Given the description of an element on the screen output the (x, y) to click on. 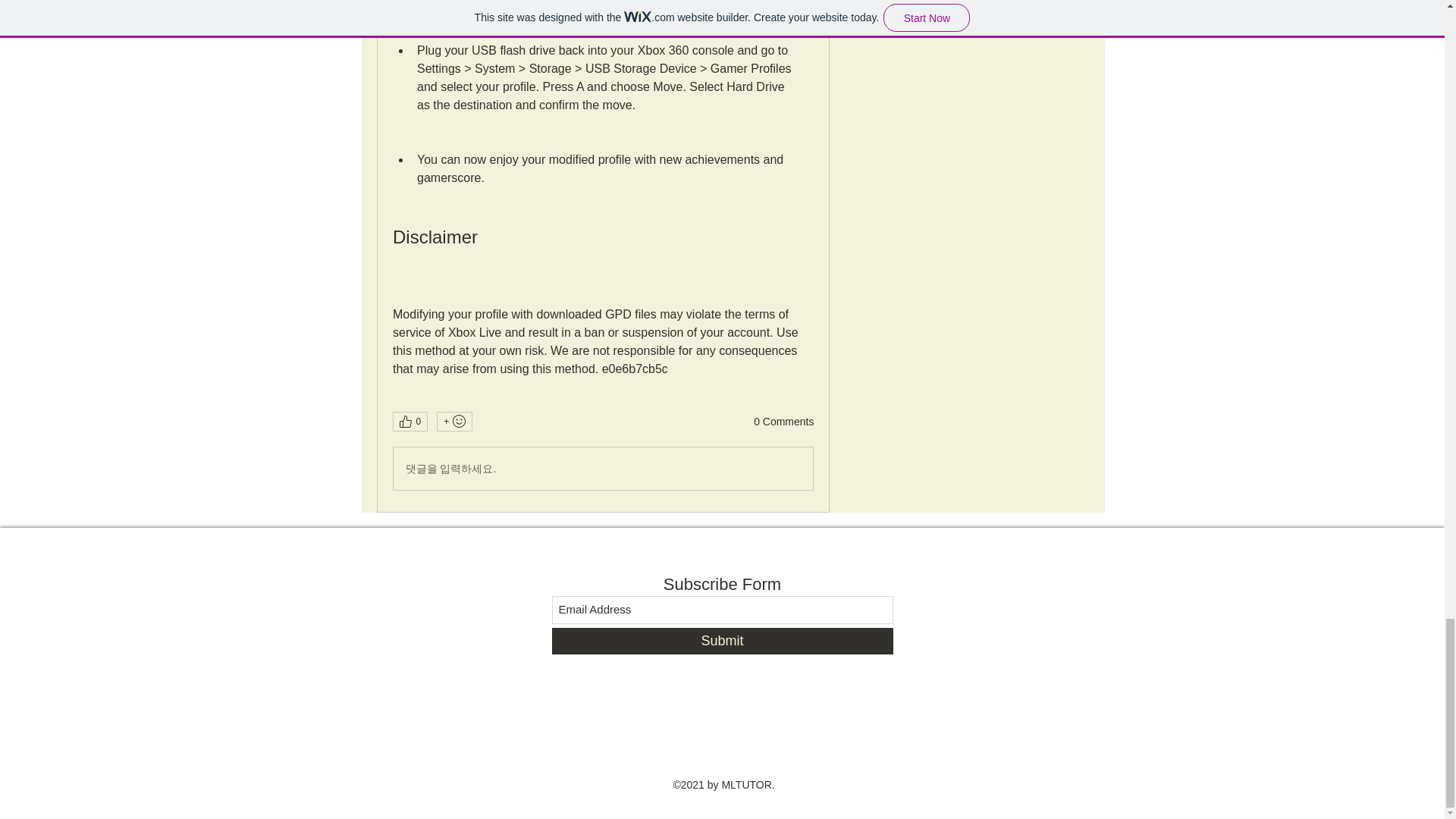
0 Comments (783, 421)
